Given the description of an element on the screen output the (x, y) to click on. 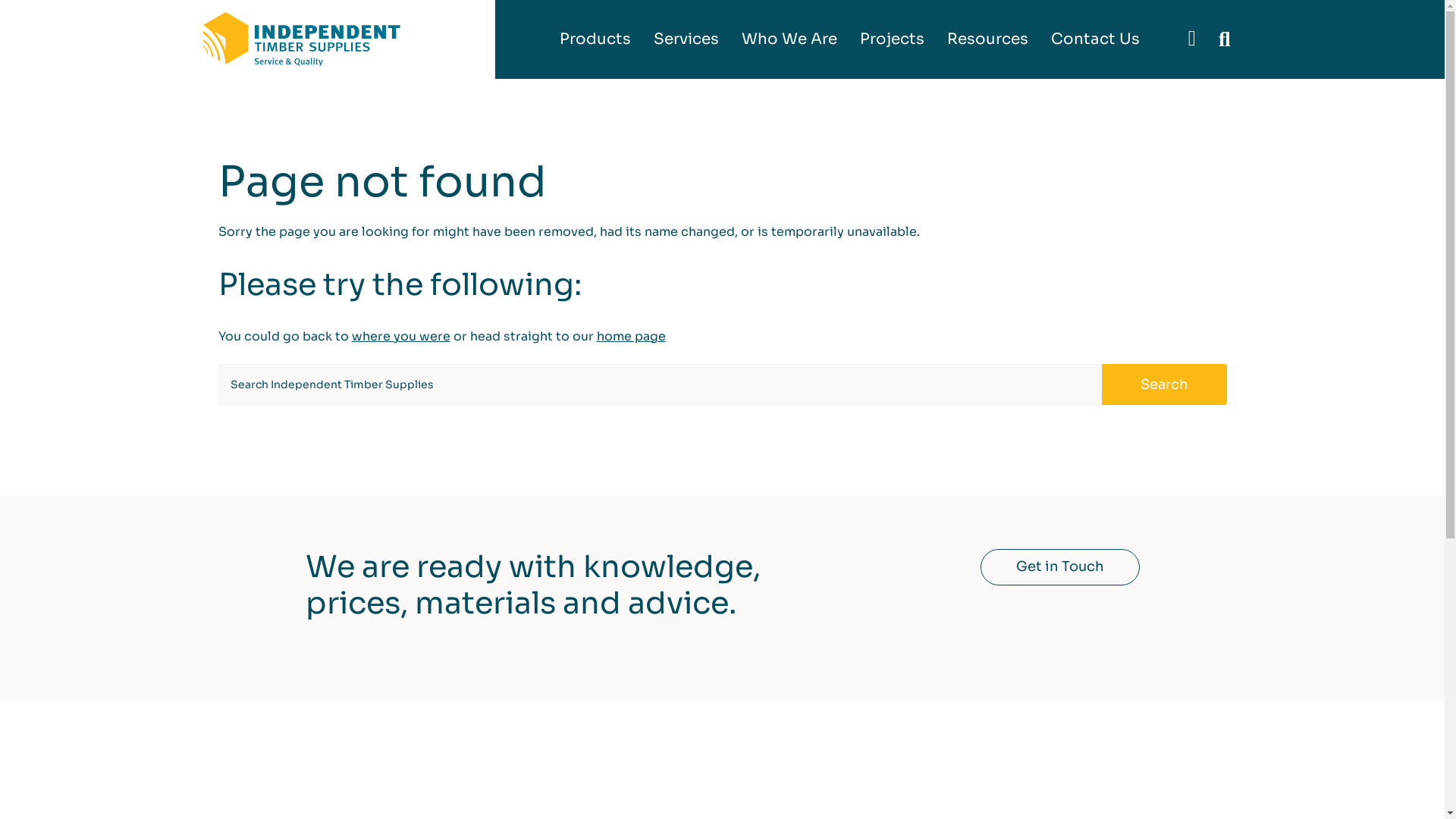
Resources Element type: text (987, 39)
home page Element type: text (630, 336)
Search Element type: text (1163, 384)
Services Element type: text (685, 39)
Who We Are Element type: text (788, 39)
Contact Us Element type: text (1094, 39)
Projects Element type: text (891, 39)
where you were Element type: text (400, 336)
Get in Touch Element type: text (1059, 566)
Products Element type: text (600, 39)
